Given the description of an element on the screen output the (x, y) to click on. 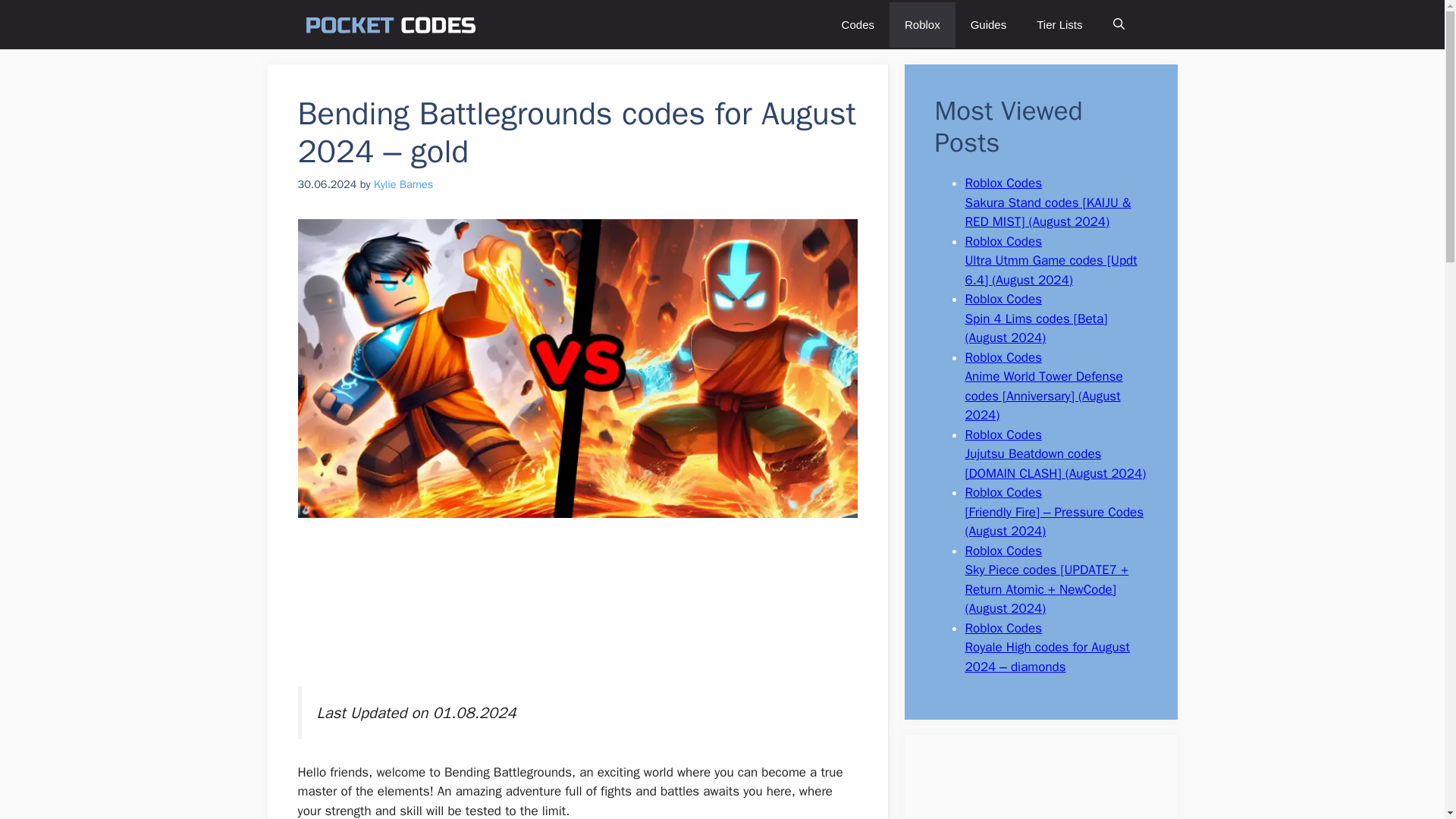
Guides (988, 23)
Codes (858, 23)
Roblox (922, 23)
View all posts by Kylie Barnes (403, 183)
Tier Lists (1059, 23)
Advertisement (1032, 795)
Advertisement (576, 611)
Kylie Barnes (403, 183)
